Given the description of an element on the screen output the (x, y) to click on. 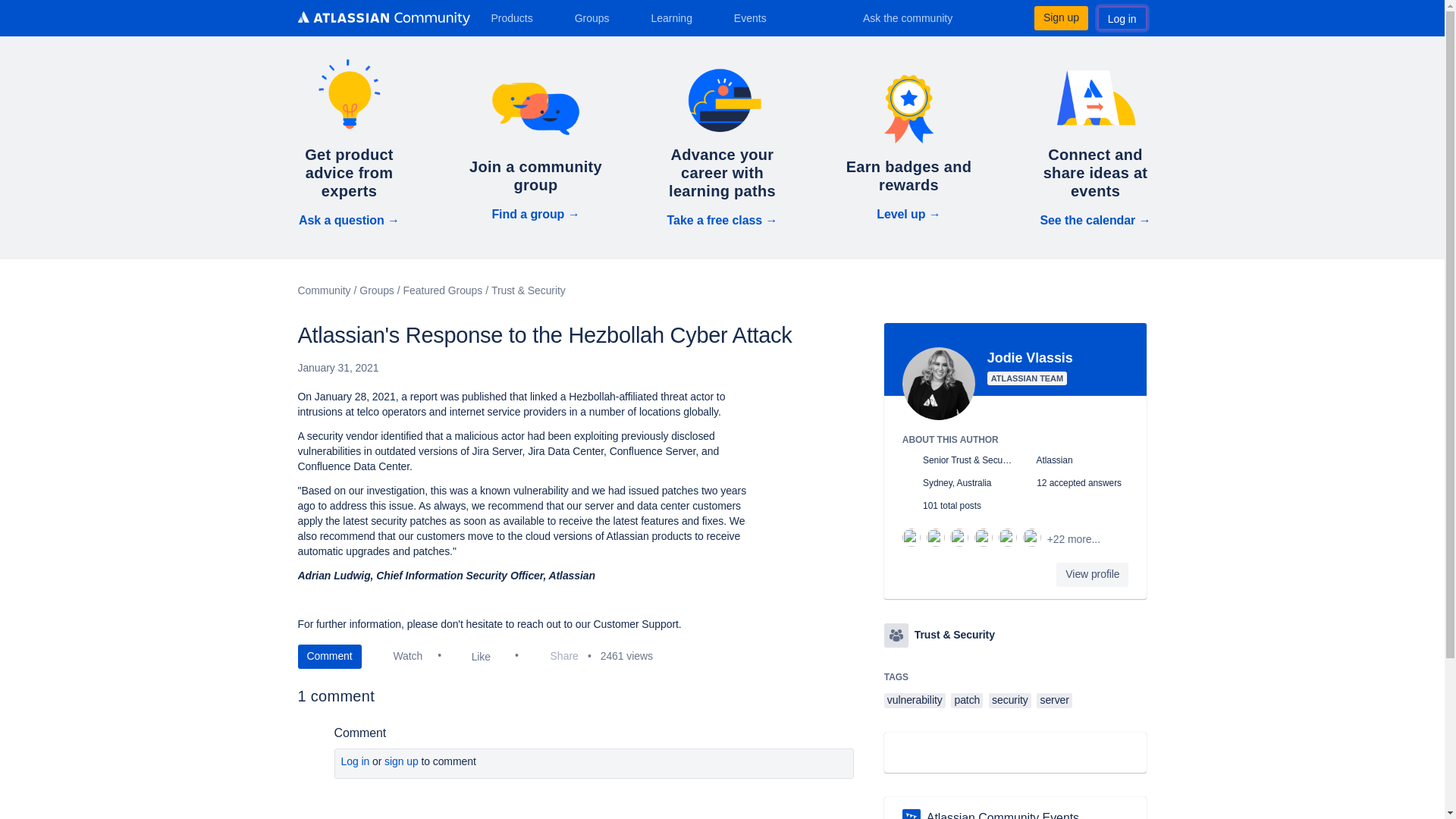
AUG Leaders (911, 814)
Events (756, 17)
Groups (598, 17)
Sign up (1060, 17)
Log in (1122, 17)
Atlassian Community logo (382, 19)
Ask the community  (917, 17)
Learning (676, 17)
Atlassian Community logo (382, 18)
Products (517, 17)
groups-icon (895, 635)
